Given the description of an element on the screen output the (x, y) to click on. 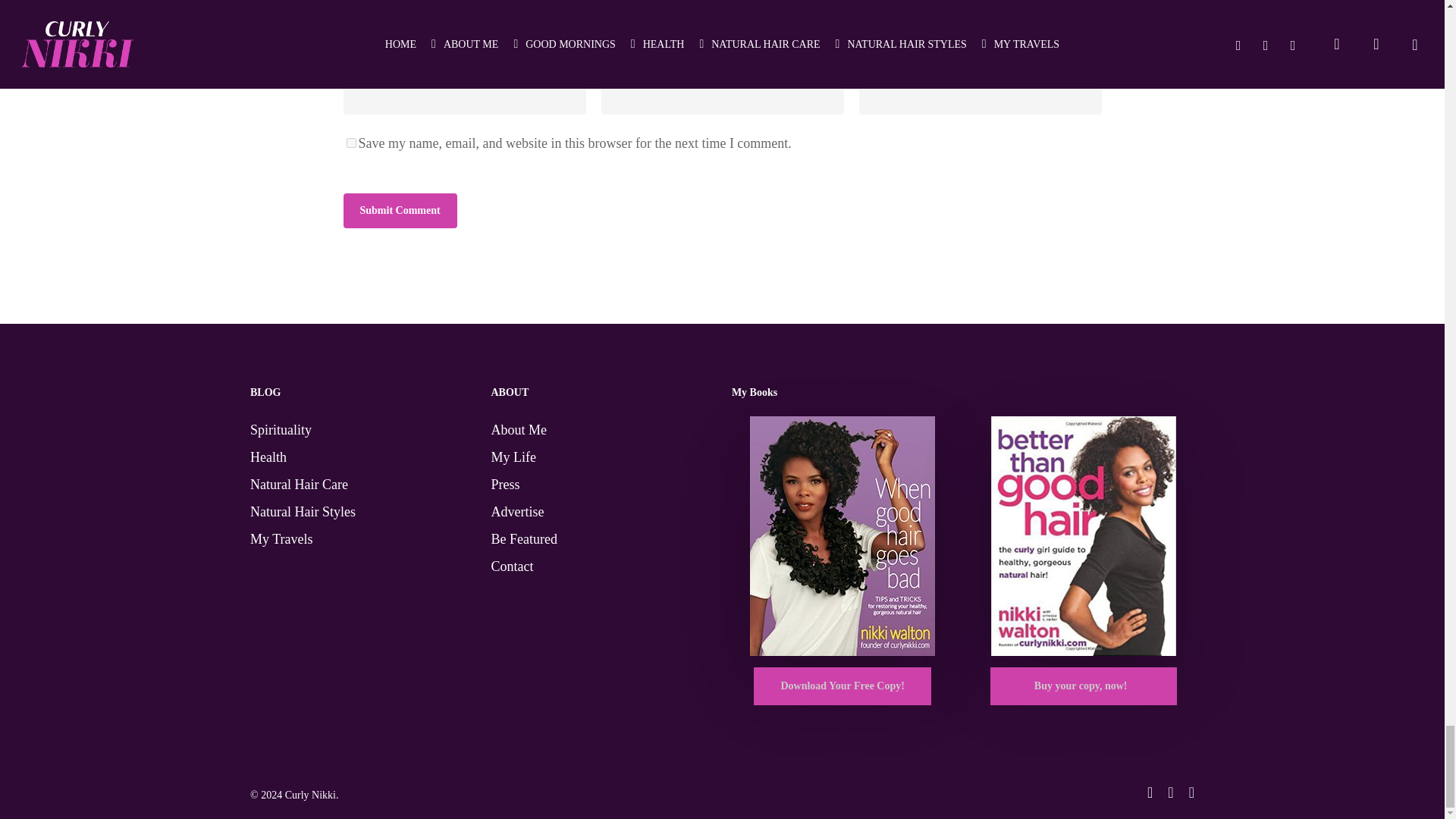
Submit Comment (399, 210)
yes (350, 143)
